Given the description of an element on the screen output the (x, y) to click on. 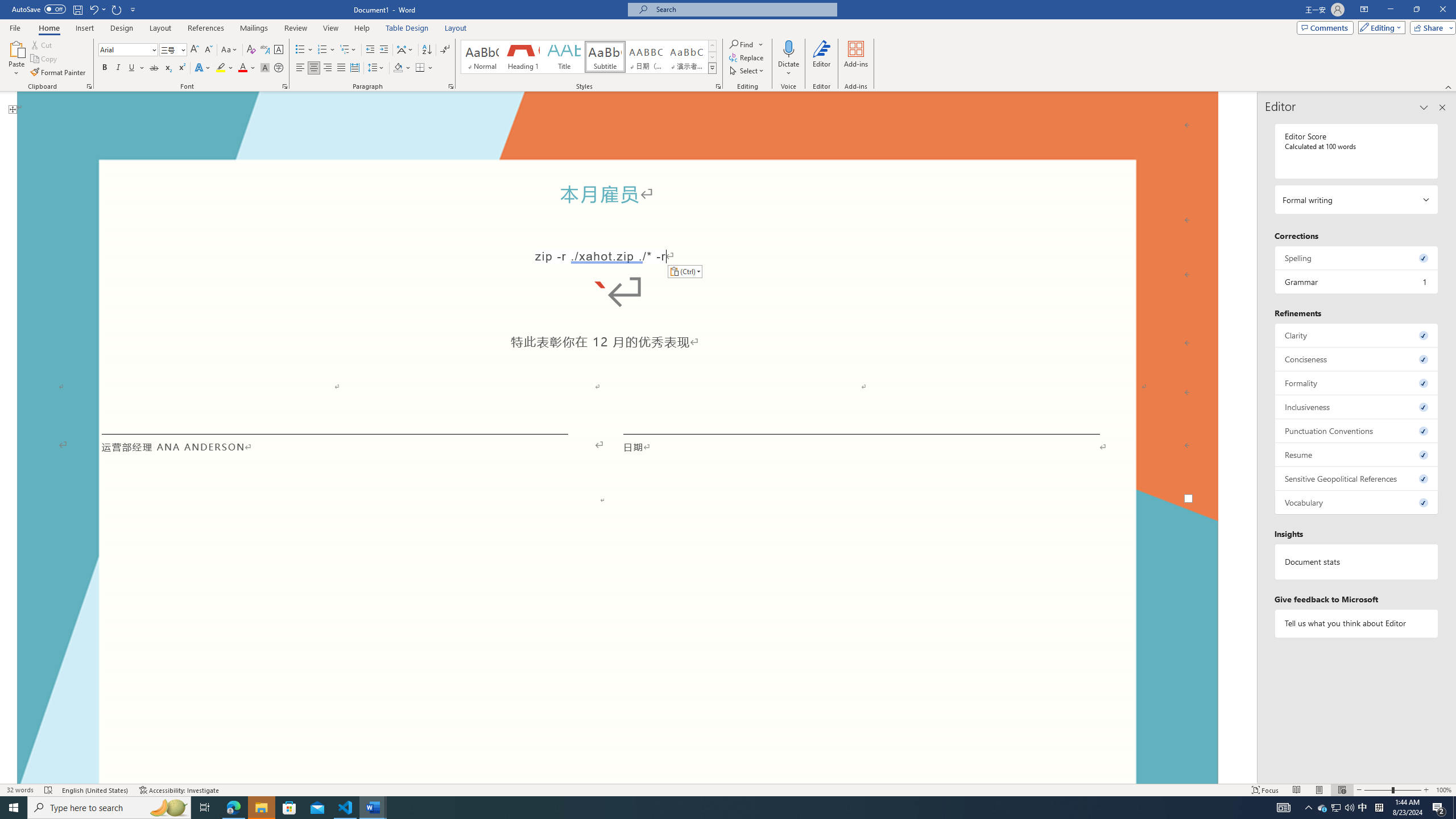
Repeat Doc Close (117, 9)
Change Case (229, 49)
Select (747, 69)
Grammar, 1 issue. Press space or enter to review items. (1356, 281)
Undo Paste (92, 9)
Grow Font (193, 49)
Editing (1379, 27)
Copy (45, 58)
